Given the description of an element on the screen output the (x, y) to click on. 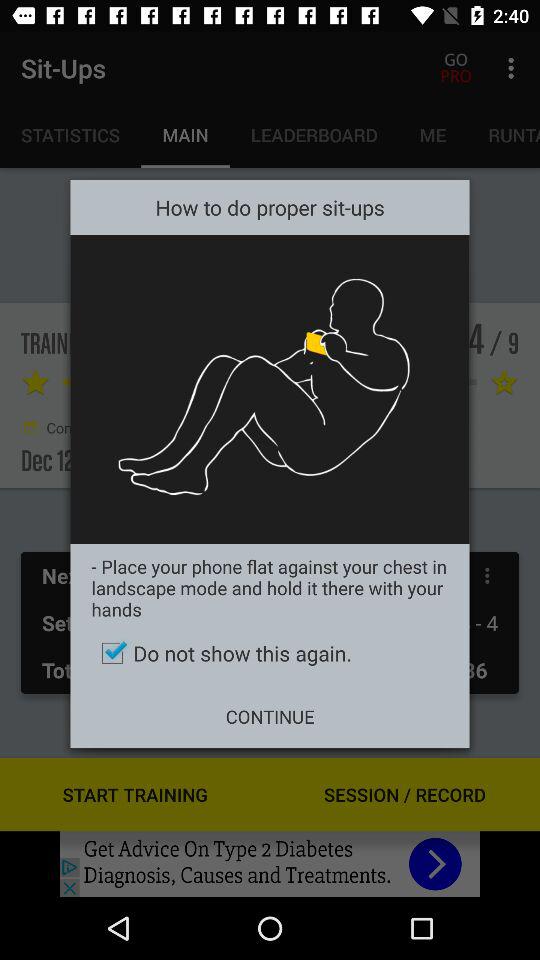
jump to the continue (269, 716)
